Given the description of an element on the screen output the (x, y) to click on. 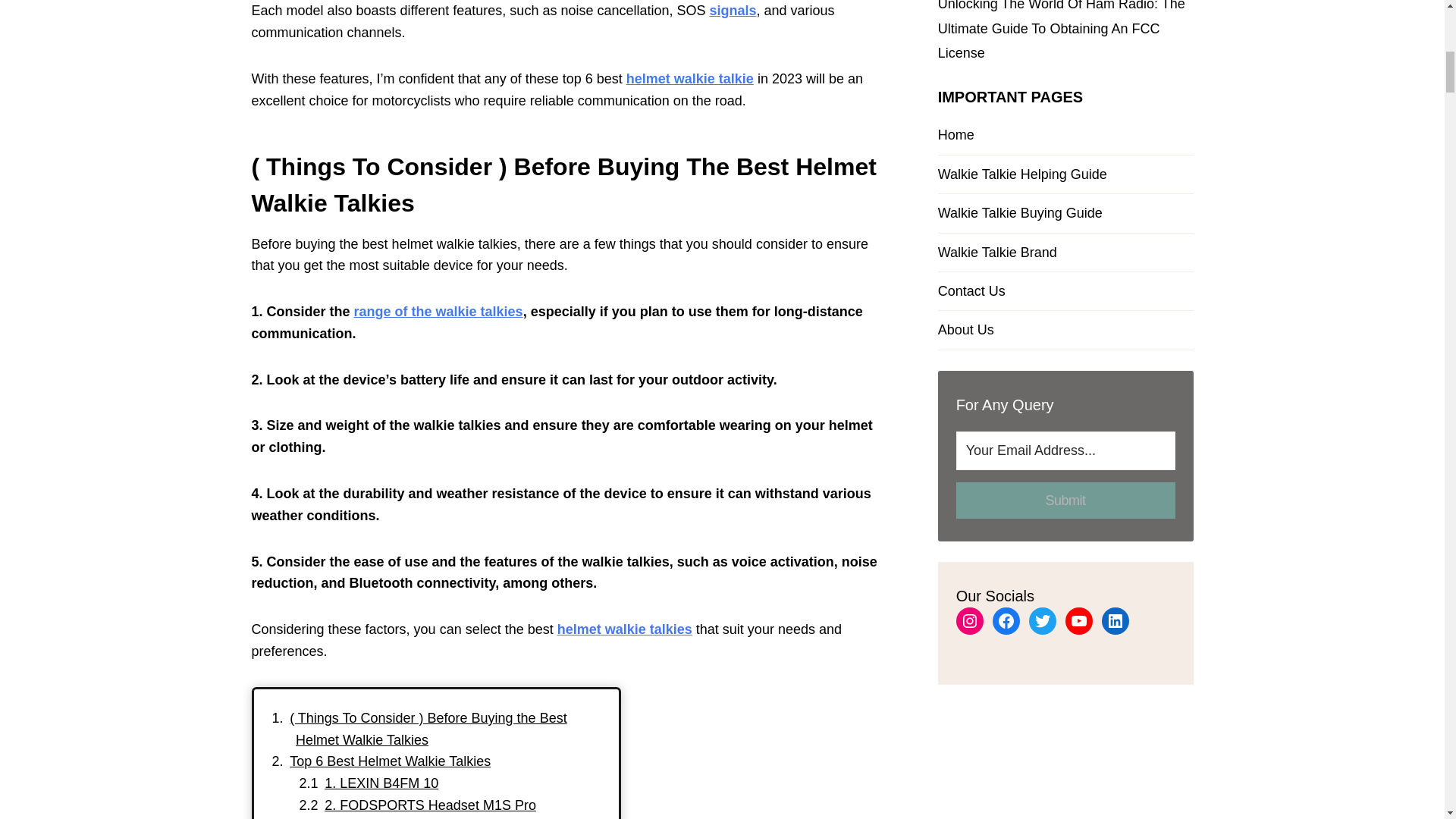
Top 6 Best Helmet Walkie Talkies (389, 761)
helmet walkie talkies (625, 629)
range of the walkie talkies (437, 311)
2. FODSPORTS Headset M1S Pro (429, 805)
1. LEXIN B4FM 10 (381, 783)
signals (733, 10)
helmet walkie talkie (690, 78)
